Given the description of an element on the screen output the (x, y) to click on. 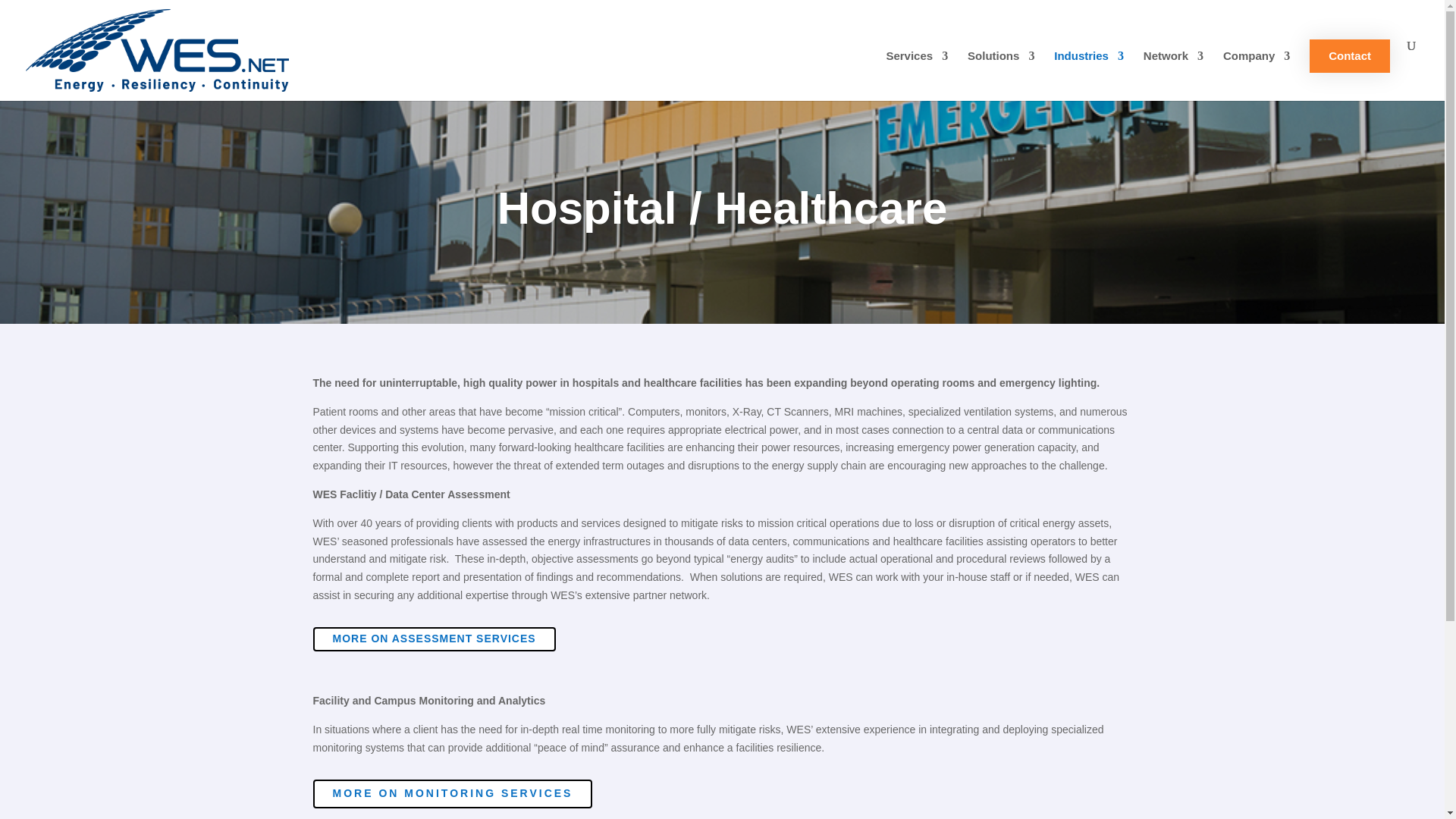
Network (1173, 75)
Company (1256, 75)
Industries (1089, 75)
Solutions (1000, 75)
Contact (1349, 55)
Services (916, 75)
